Given the description of an element on the screen output the (x, y) to click on. 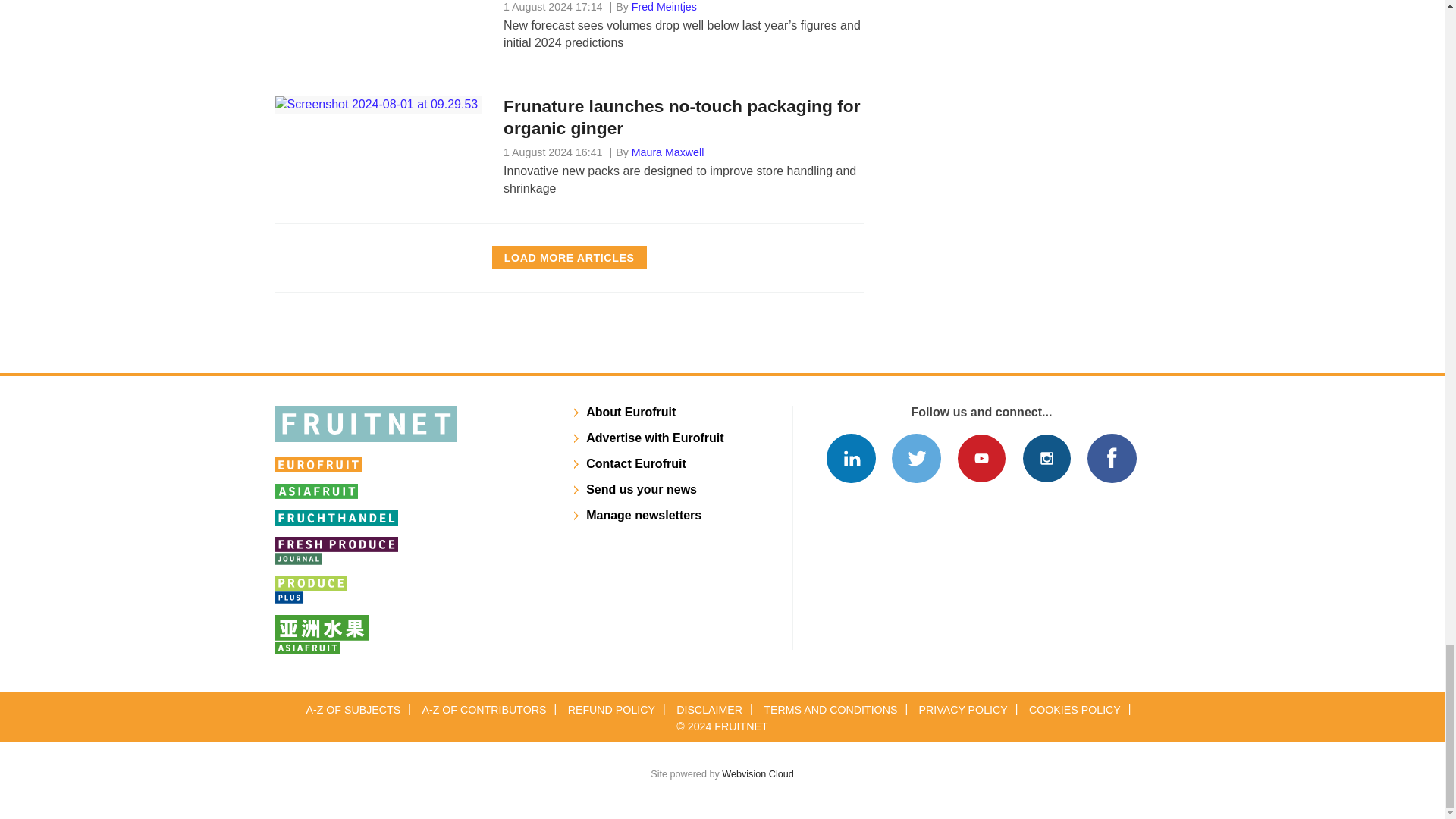
Follow us on Facebook (1112, 458)
Connect with us on Youtube (981, 458)
Connect with us on Twitter (915, 458)
Follow us on Linked In (851, 458)
Follow us on Instagram (1046, 458)
